Given the description of an element on the screen output the (x, y) to click on. 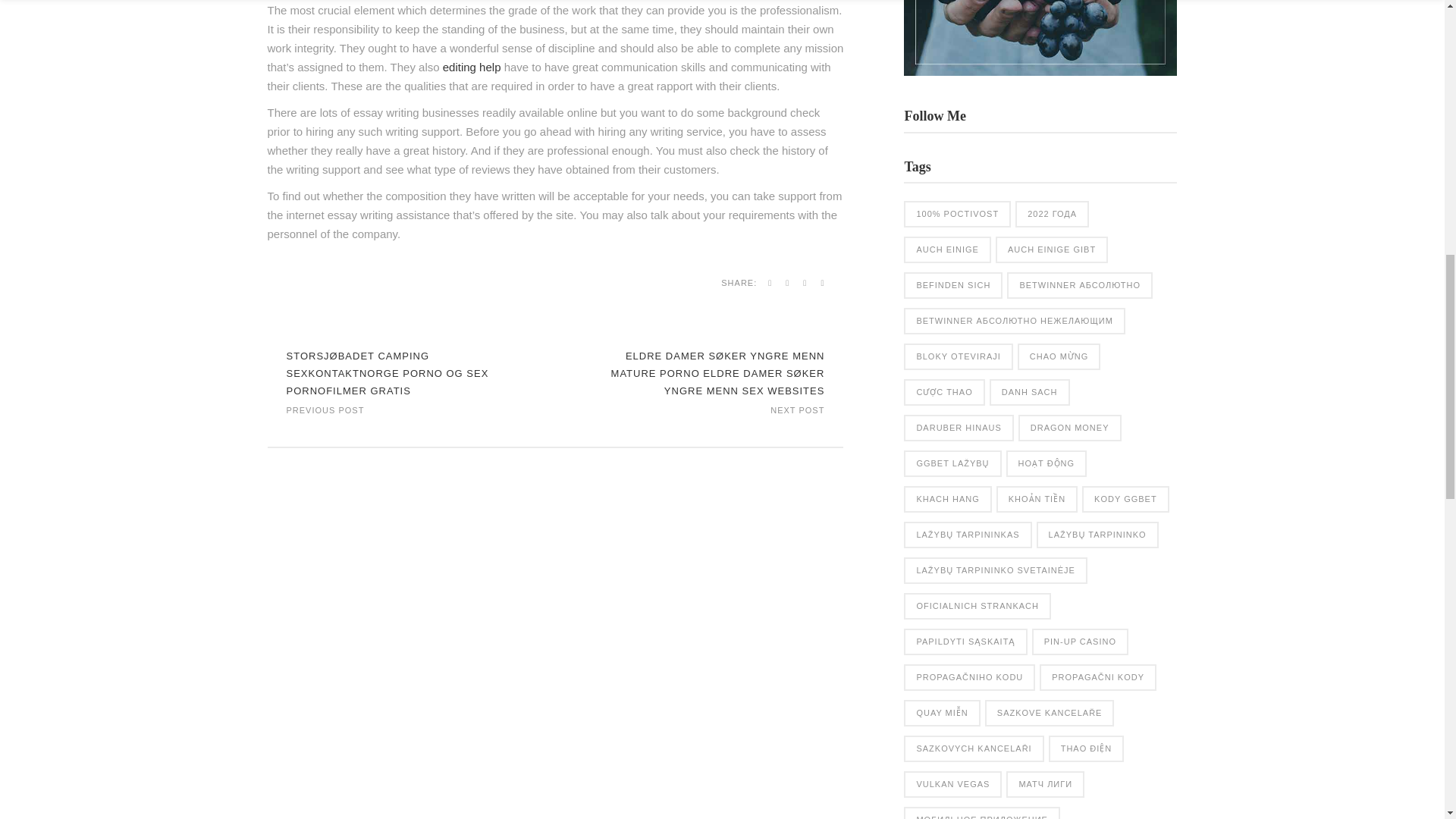
DARUBER HINAUS (958, 427)
AUCH EINIGE (947, 249)
PIN-UP CASINO (1080, 641)
DANH SACH (1030, 392)
BLOKY OTEVIRAJI (957, 356)
KODY GGBET (1125, 499)
DRAGON MONEY (1069, 427)
editing help (471, 66)
OFICIALNICH STRANKACH (977, 605)
NEXT POST (797, 408)
